Given the description of an element on the screen output the (x, y) to click on. 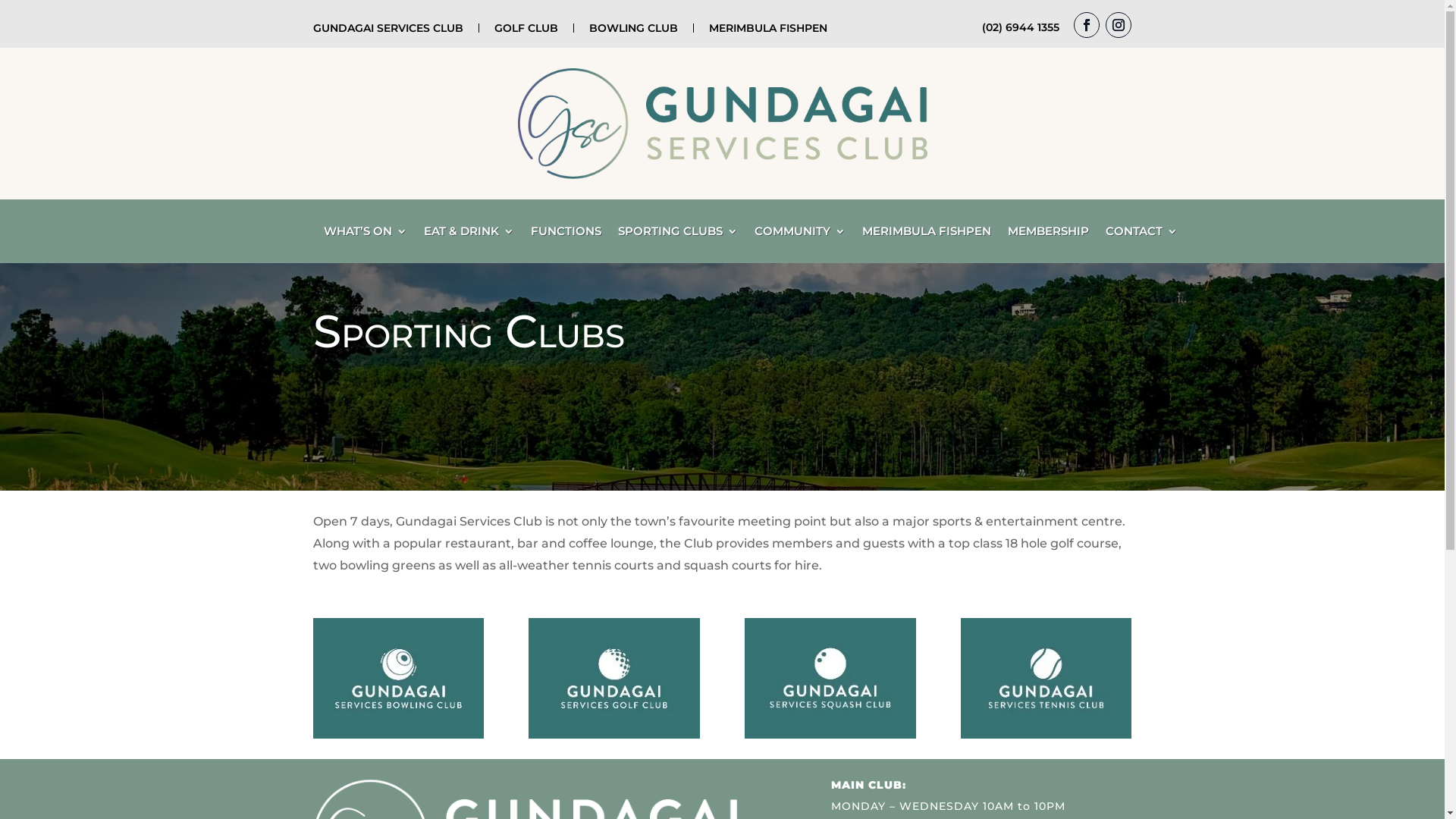
GUNDAGAI SERVICES CLUB Element type: text (387, 27)
CONTACT Element type: text (1141, 233)
FUNCTIONS Element type: text (565, 233)
Follow on Instagram Element type: hover (1118, 24)
BOWLING CLUB Element type: text (632, 27)
services-golf-club Element type: hover (613, 678)
squash-club Element type: hover (829, 678)
Follow on Facebook Element type: hover (1086, 24)
GSC-Horizontal-Colour Element type: hover (721, 123)
GOLF CLUB Element type: text (526, 27)
SPORTING CLUBS Element type: text (677, 233)
EAT & DRINK Element type: text (468, 233)
MERIMBULA FISHPEN Element type: text (925, 233)
Services-bowling-Club Element type: hover (397, 678)
MERIMBULA FISHPEN Element type: text (767, 27)
MEMBERSHIP Element type: text (1047, 233)
tennis-club Element type: hover (1045, 678)
COMMUNITY Element type: text (798, 233)
